Given the description of an element on the screen output the (x, y) to click on. 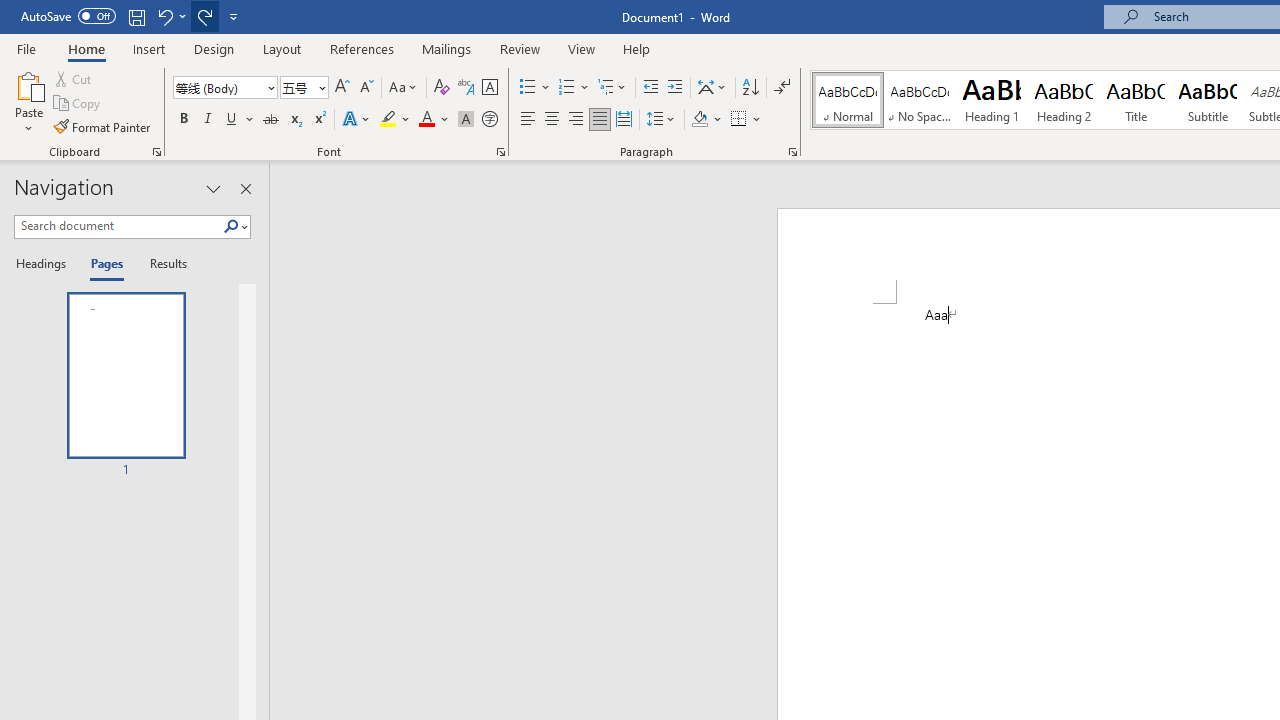
Text Highlight Color (395, 119)
Copy (78, 103)
Search document (118, 226)
Phonetic Guide... (465, 87)
Subscript (294, 119)
Center (552, 119)
Multilevel List (613, 87)
Character Shading (465, 119)
